Given the description of an element on the screen output the (x, y) to click on. 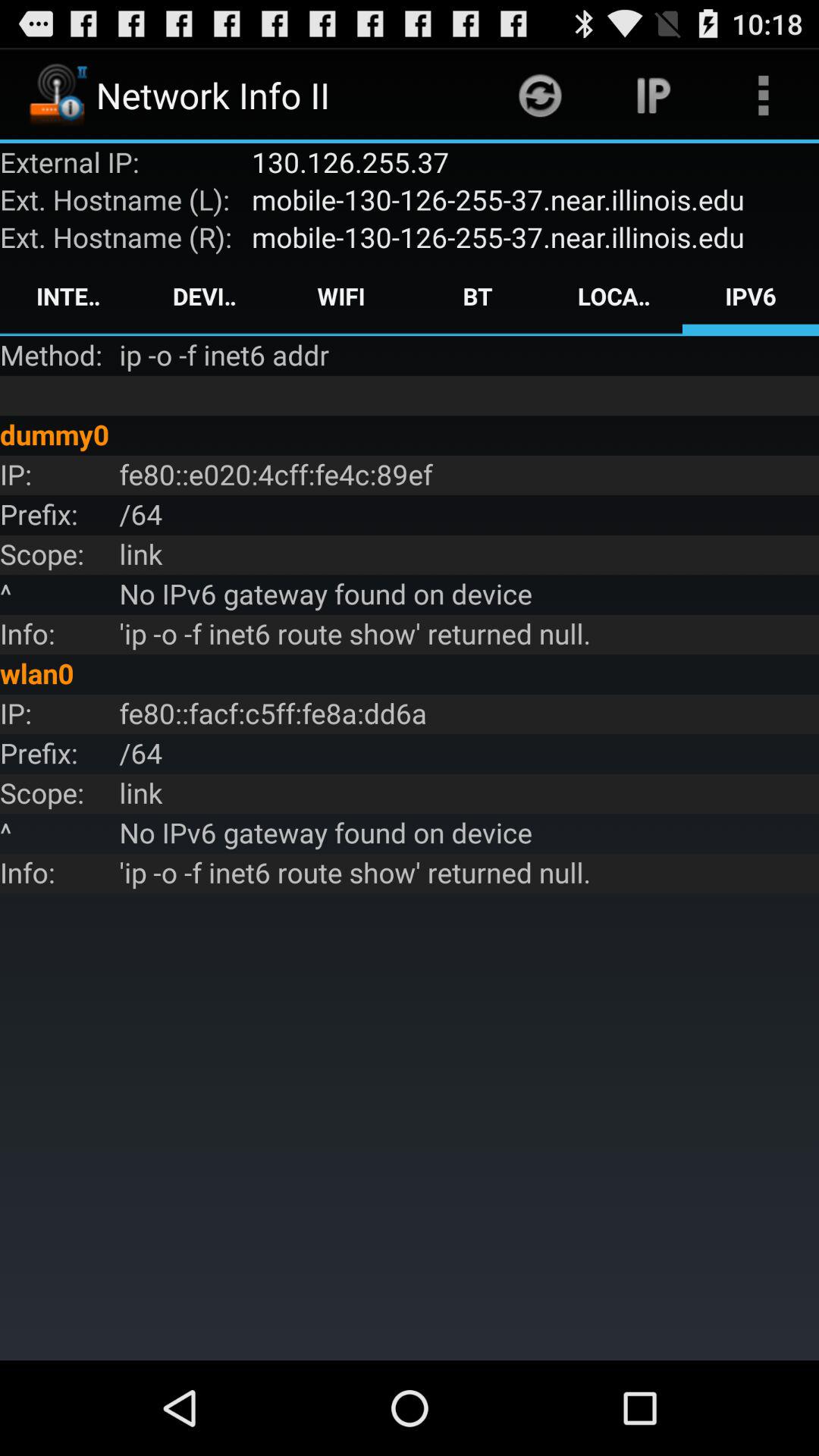
launch item above the 130 126 255 item (651, 95)
